Given the description of an element on the screen output the (x, y) to click on. 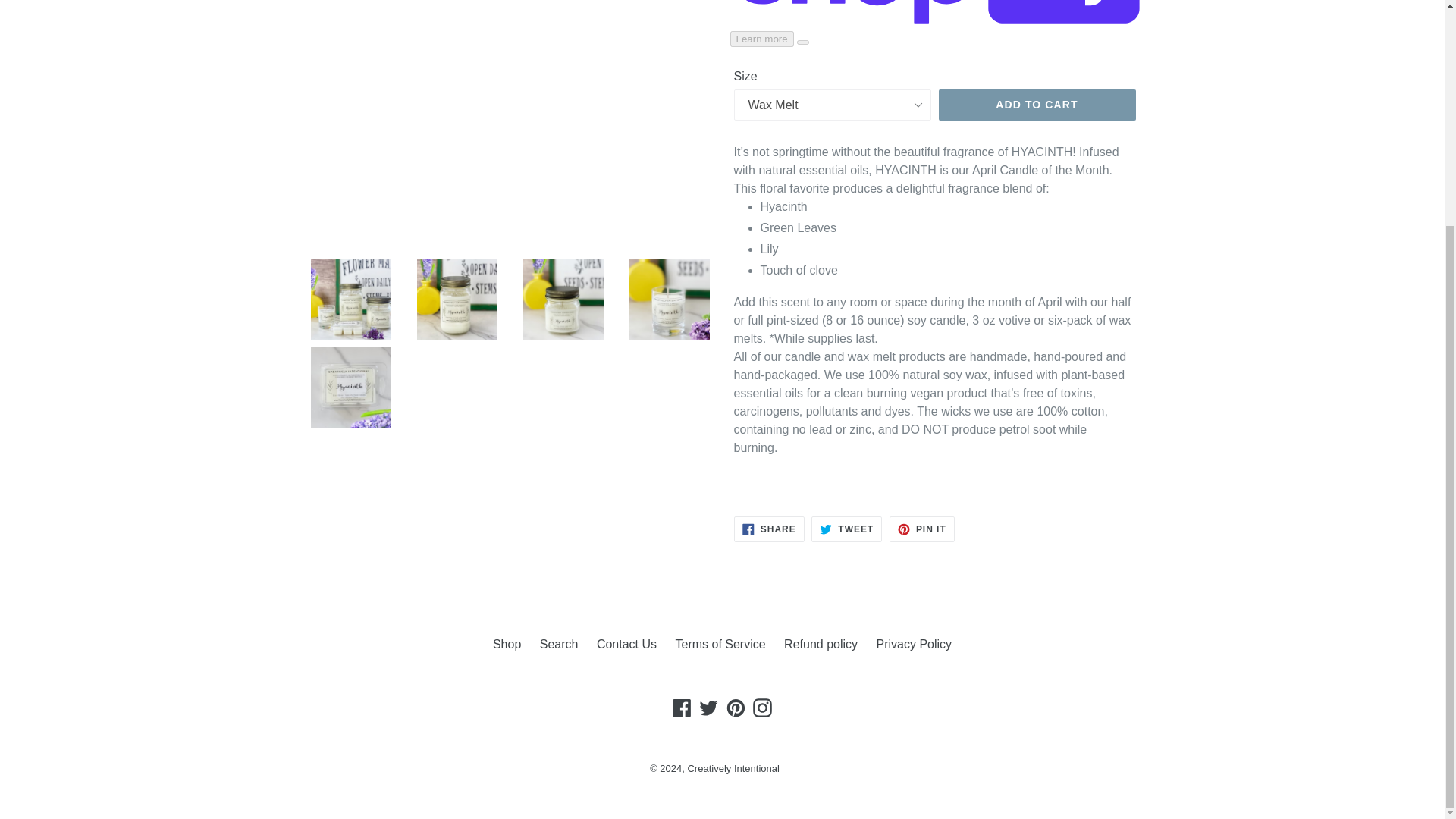
Pin on Pinterest (922, 529)
Creatively Intentional on Facebook (681, 707)
Share on Facebook (769, 529)
Creatively Intentional on Pinterest (735, 707)
Creatively Intentional on Instagram (762, 707)
Creatively Intentional on Twitter (708, 707)
Tweet on Twitter (846, 529)
